Given the description of an element on the screen output the (x, y) to click on. 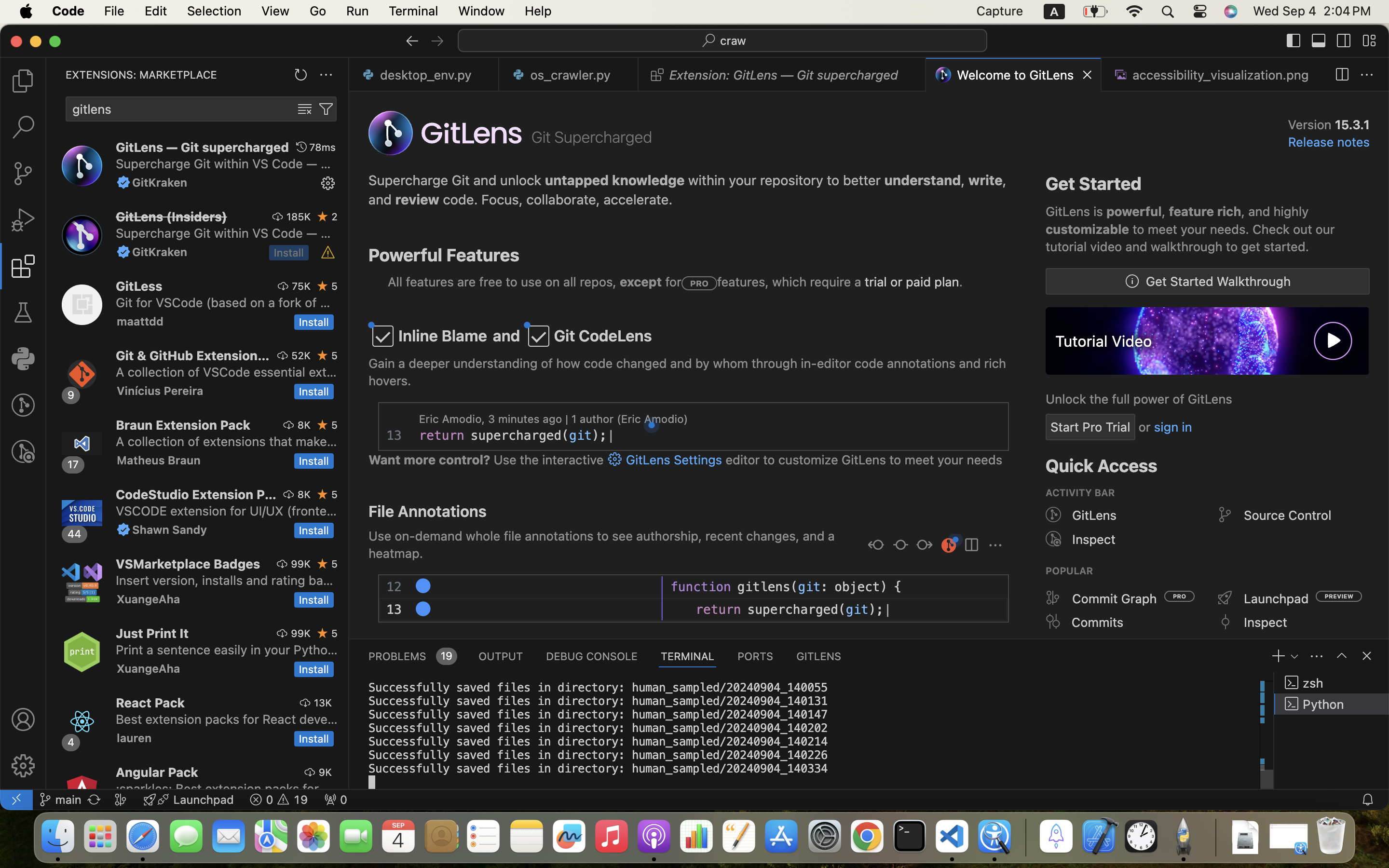
 Element type: AXCheckBox (1341, 655)
Pro Element type: AXGroup (698, 283)
File Annotations Element type: AXStaticText (427, 510)
Quick Access Element type: AXStaticText (1101, 465)
Git CodeLens Element type: AXStaticText (602, 335)
